Given the description of an element on the screen output the (x, y) to click on. 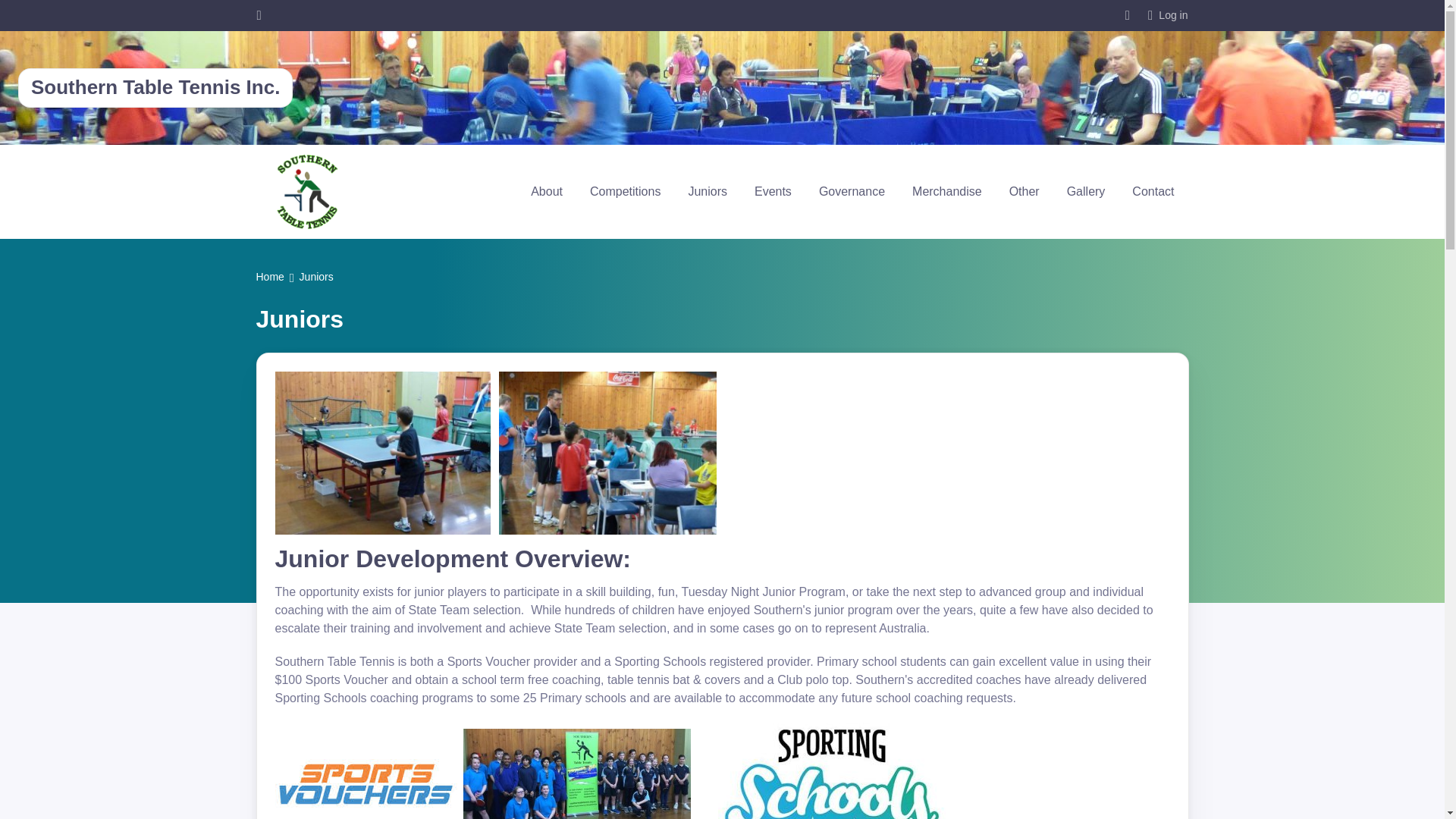
About (546, 191)
Gallery (1085, 191)
Events (773, 191)
Governance (851, 191)
Competitions (625, 191)
Log in (1168, 15)
Other (1023, 191)
Juniors (707, 191)
Merchandise (946, 191)
